Given the description of an element on the screen output the (x, y) to click on. 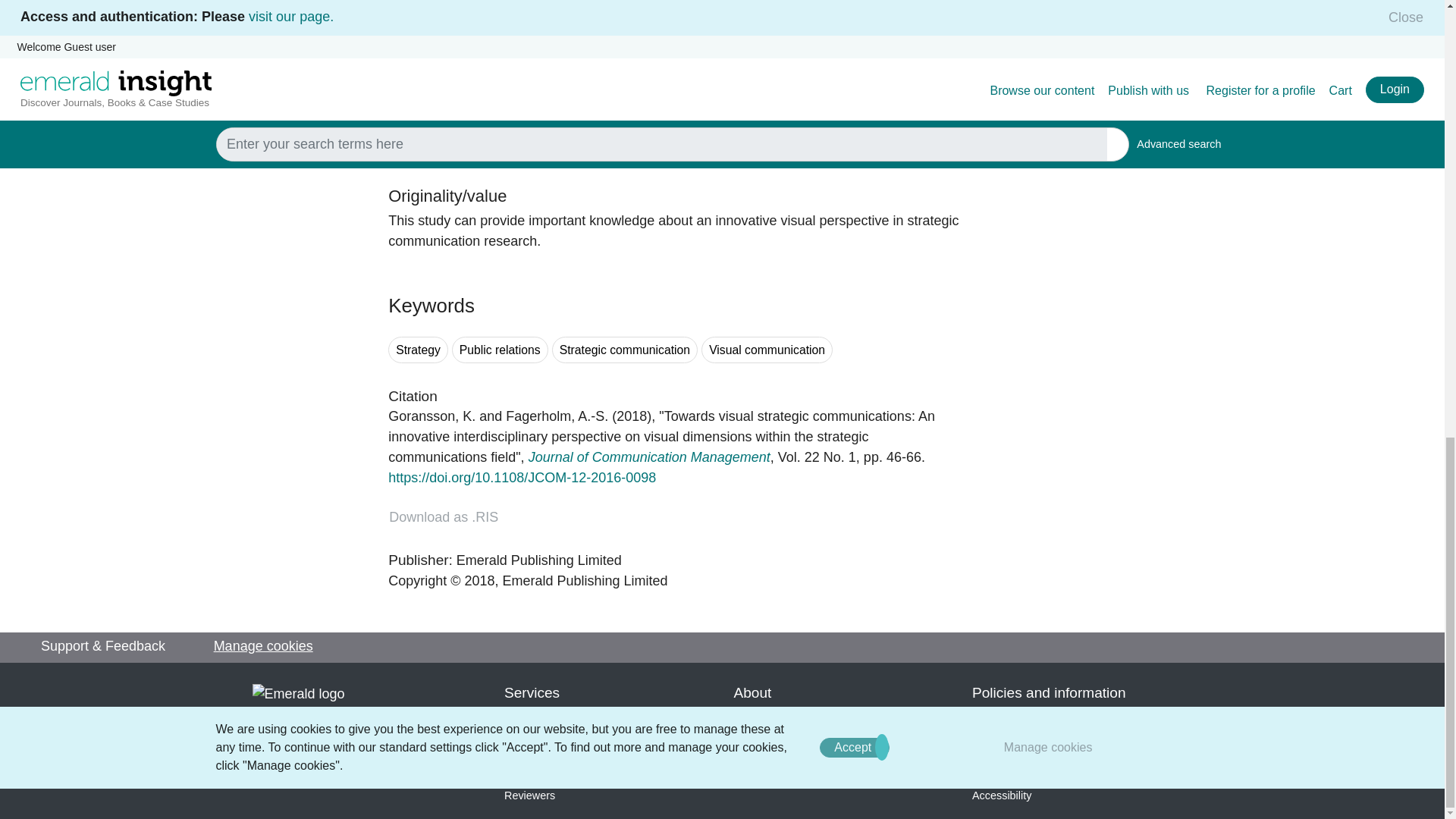
Anna-Sara Fagerholm (556, 416)
Karina Goransson (432, 416)
Search for keyword Strategy (418, 349)
Search for keyword Visual communication (766, 349)
Search for keyword Strategic communication (624, 349)
Search for keyword Public relations (499, 349)
